Given the description of an element on the screen output the (x, y) to click on. 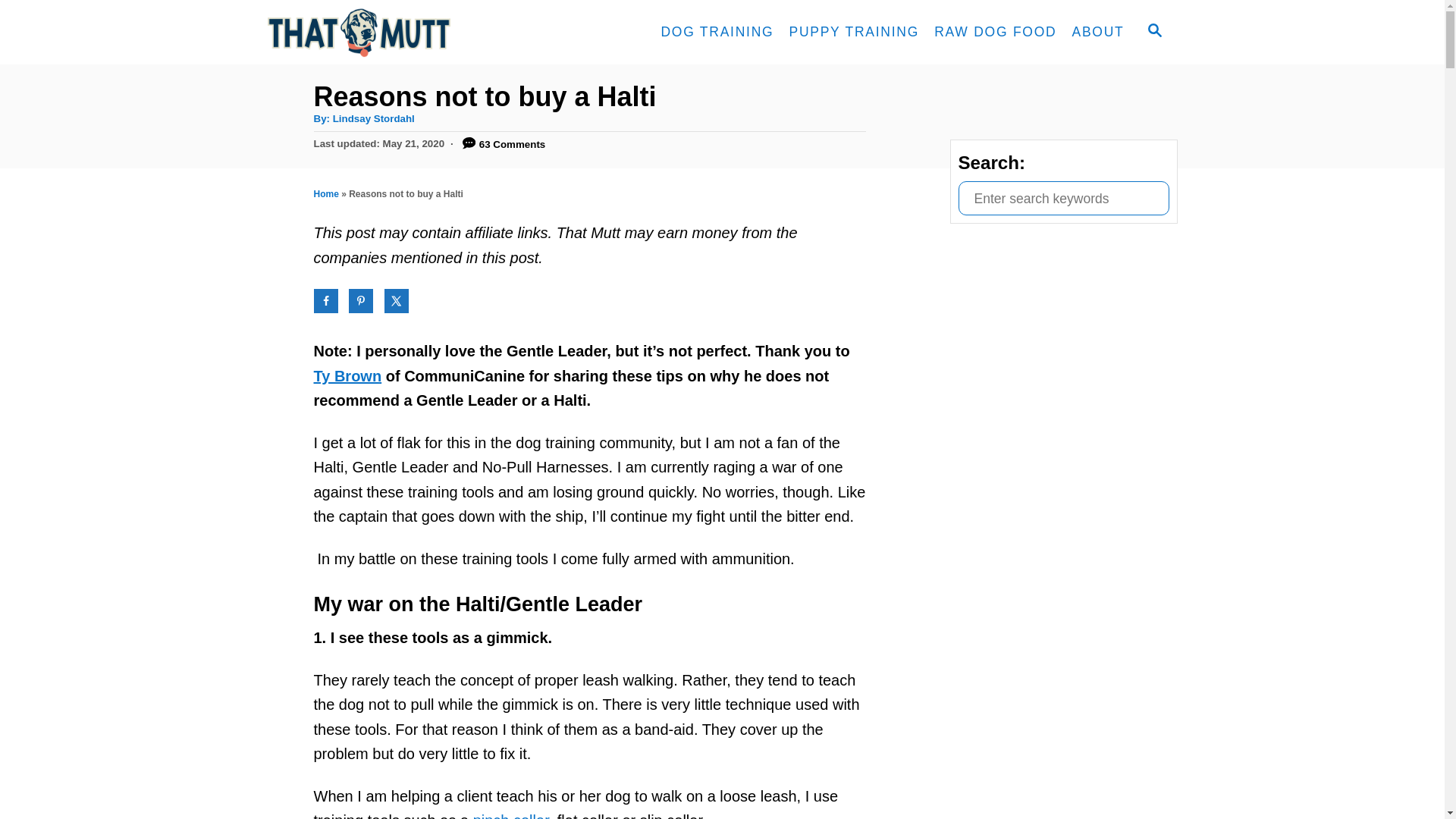
ABOUT (1097, 32)
Save to Pinterest (360, 300)
RAW DOG FOOD (995, 32)
Home (326, 194)
Search for: (1063, 197)
PUPPY TRAINING (853, 32)
Lindsay Stordahl (373, 118)
pinch collar (510, 815)
Share on X (396, 300)
SEARCH (1153, 31)
DOG TRAINING (716, 32)
Share on Facebook (325, 300)
Ty Brown (347, 375)
ThatMutt.com (403, 32)
